Given the description of an element on the screen output the (x, y) to click on. 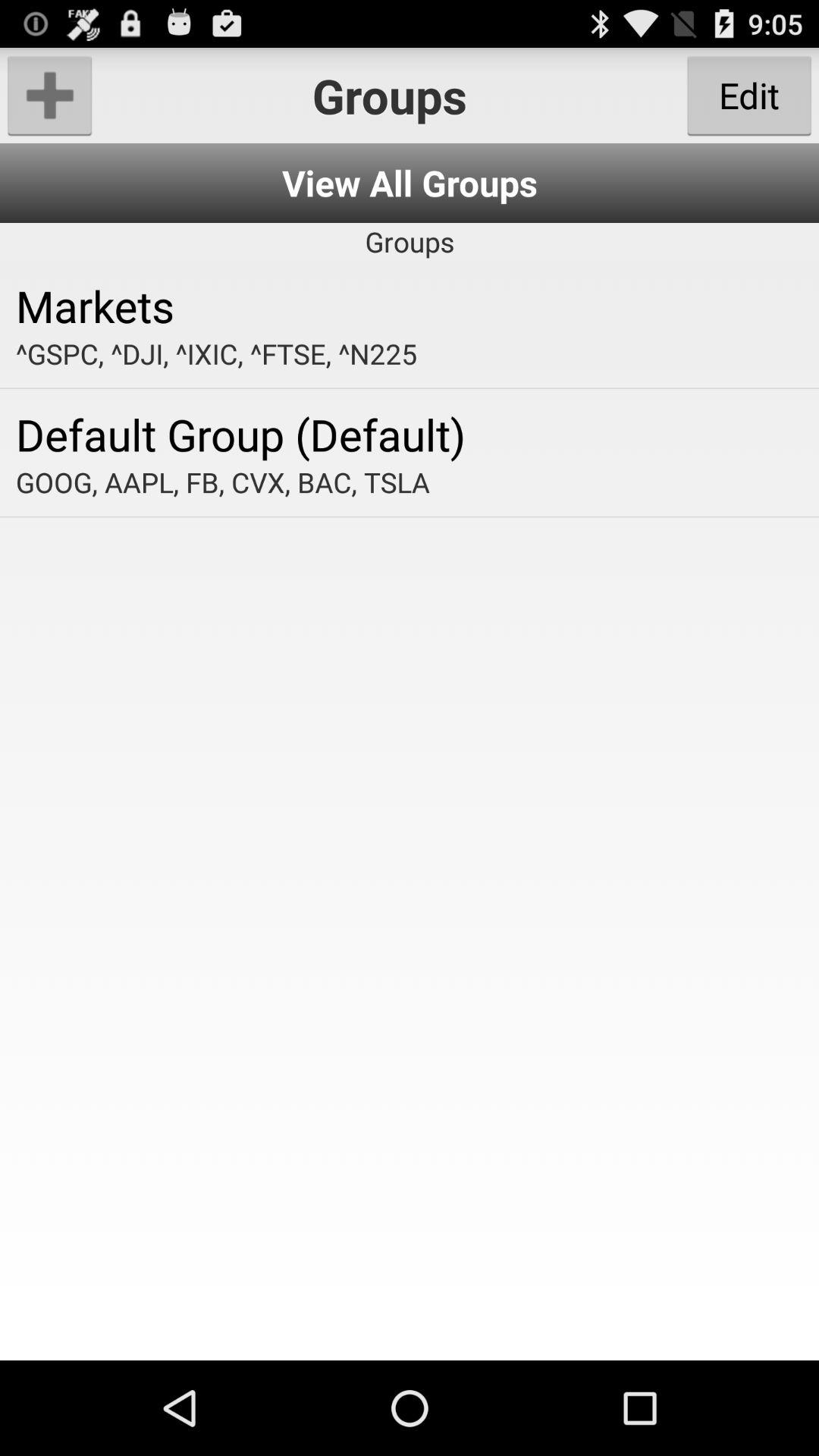
select icon above goog aapl fb icon (409, 433)
